Given the description of an element on the screen output the (x, y) to click on. 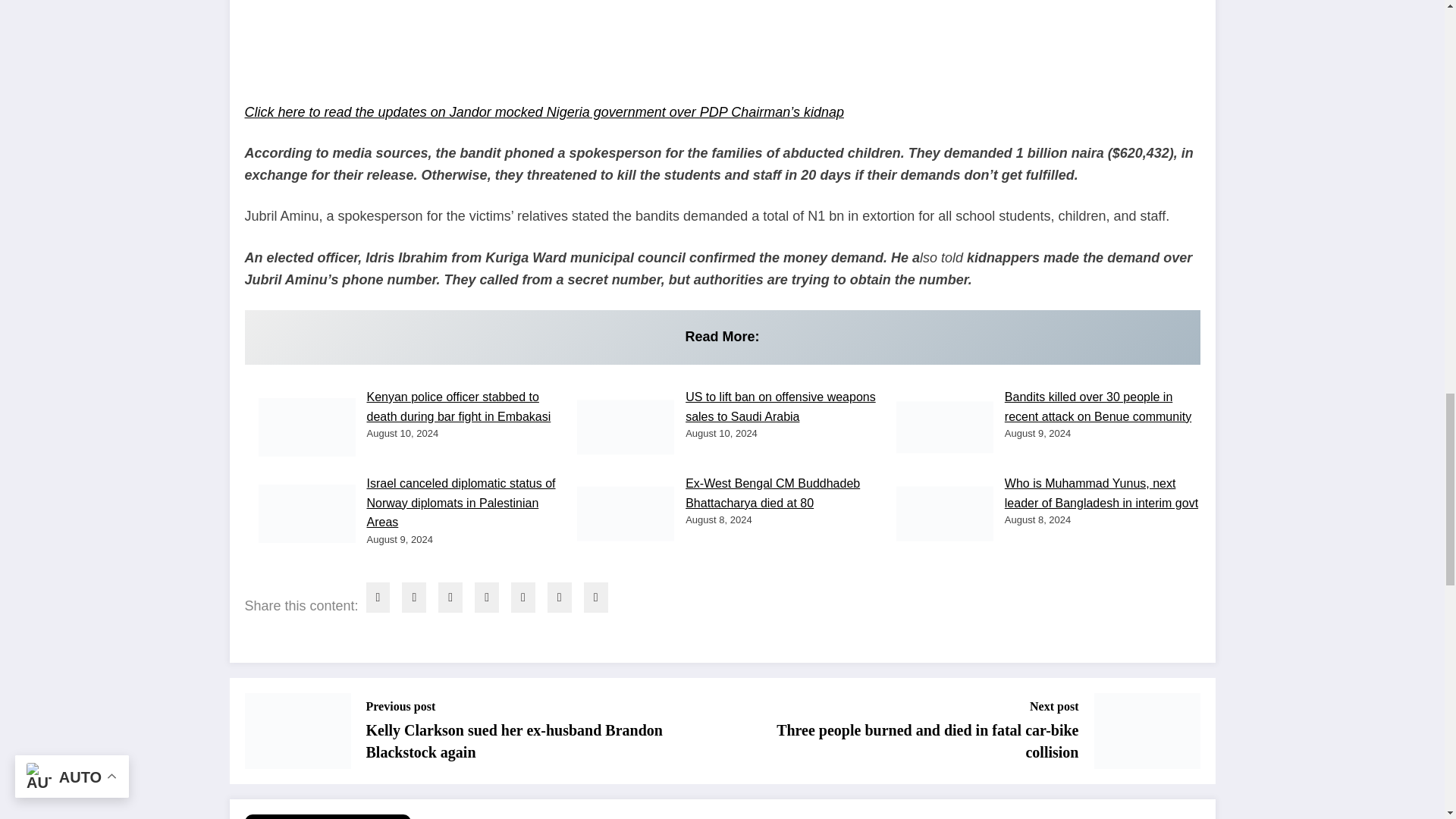
US to lift ban on offensive weapons sales to Saudi Arabia (780, 406)
Ex-West Bengal CM Buddhadeb Bhattacharya died at 80 (772, 492)
